Given the description of an element on the screen output the (x, y) to click on. 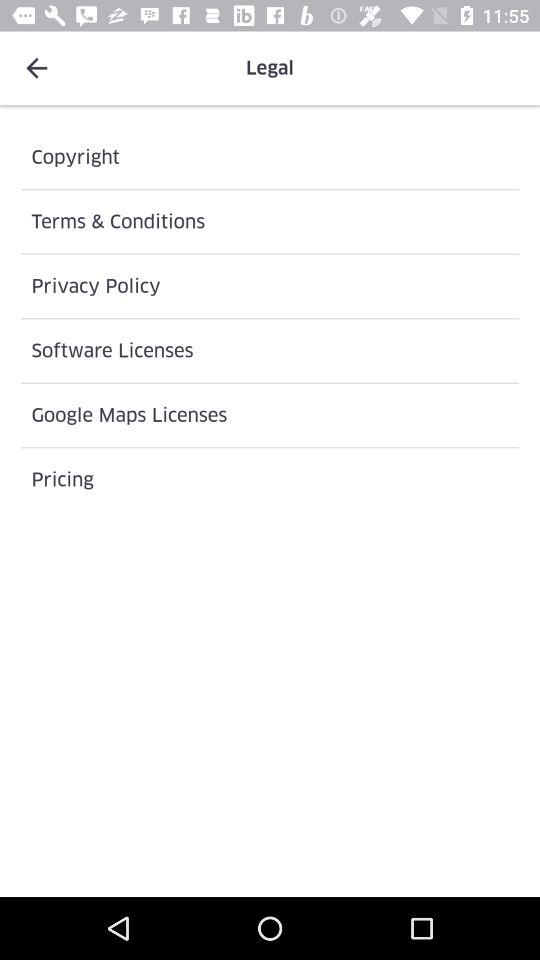
jump until pricing icon (270, 479)
